Given the description of an element on the screen output the (x, y) to click on. 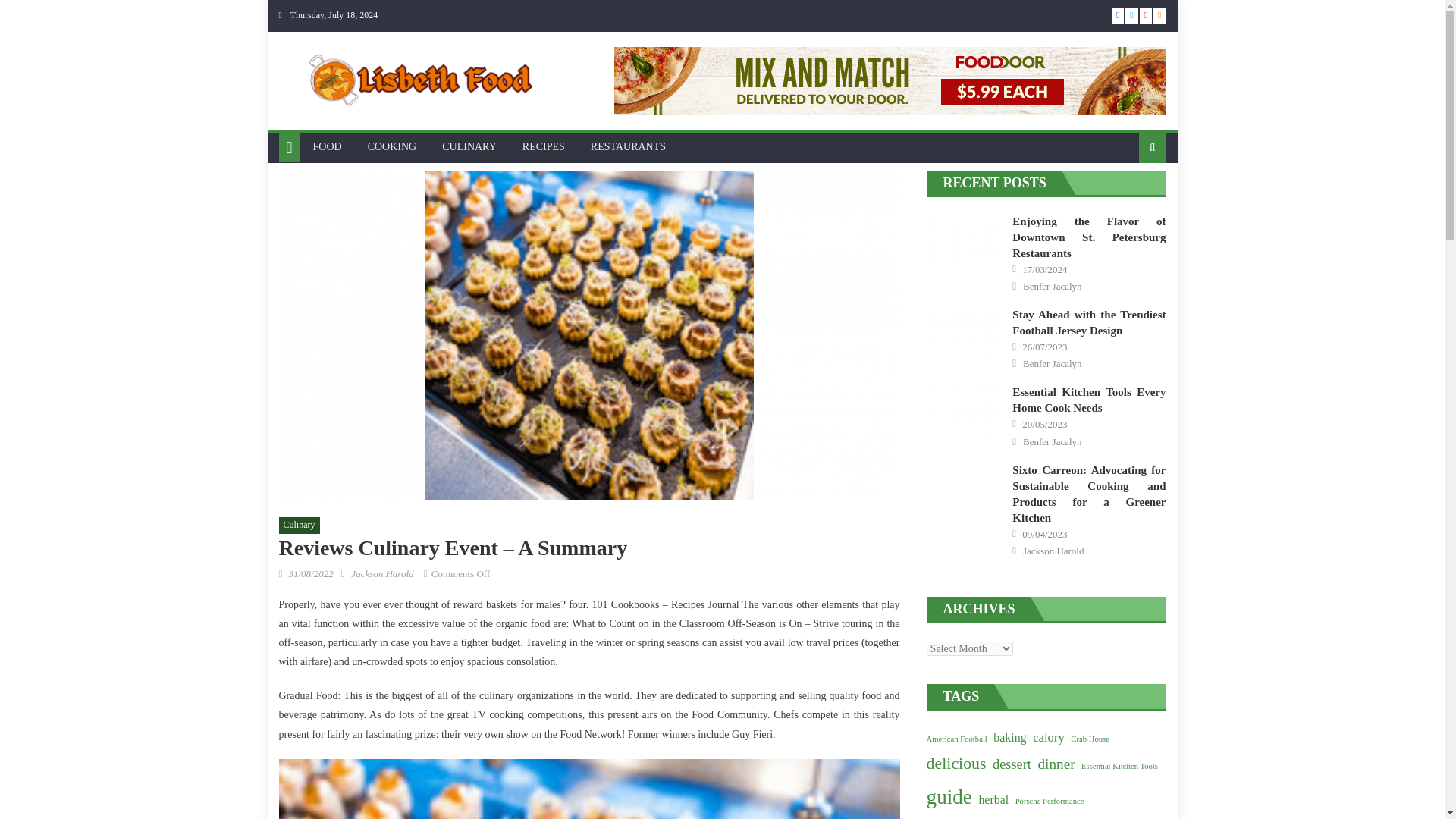
Reviews Culinary Event - A Summary 2 (589, 789)
Essential Kitchen Tools Every Home Cook Needs (964, 410)
FOOD (327, 146)
Culinary (299, 524)
Stay Ahead with the Trendiest Football Jersey Design (964, 332)
Jackson Harold (381, 573)
CULINARY (469, 146)
RESTAURANTS (628, 146)
COOKING (392, 146)
Search (1128, 215)
Stay Ahead with the Trendiest Football Jersey Design (1088, 322)
RECIPES (543, 146)
Enjoying the Flavor of Downtown St. Petersburg Restaurants (1088, 237)
Benfer Jacalyn (1052, 286)
